Given the description of an element on the screen output the (x, y) to click on. 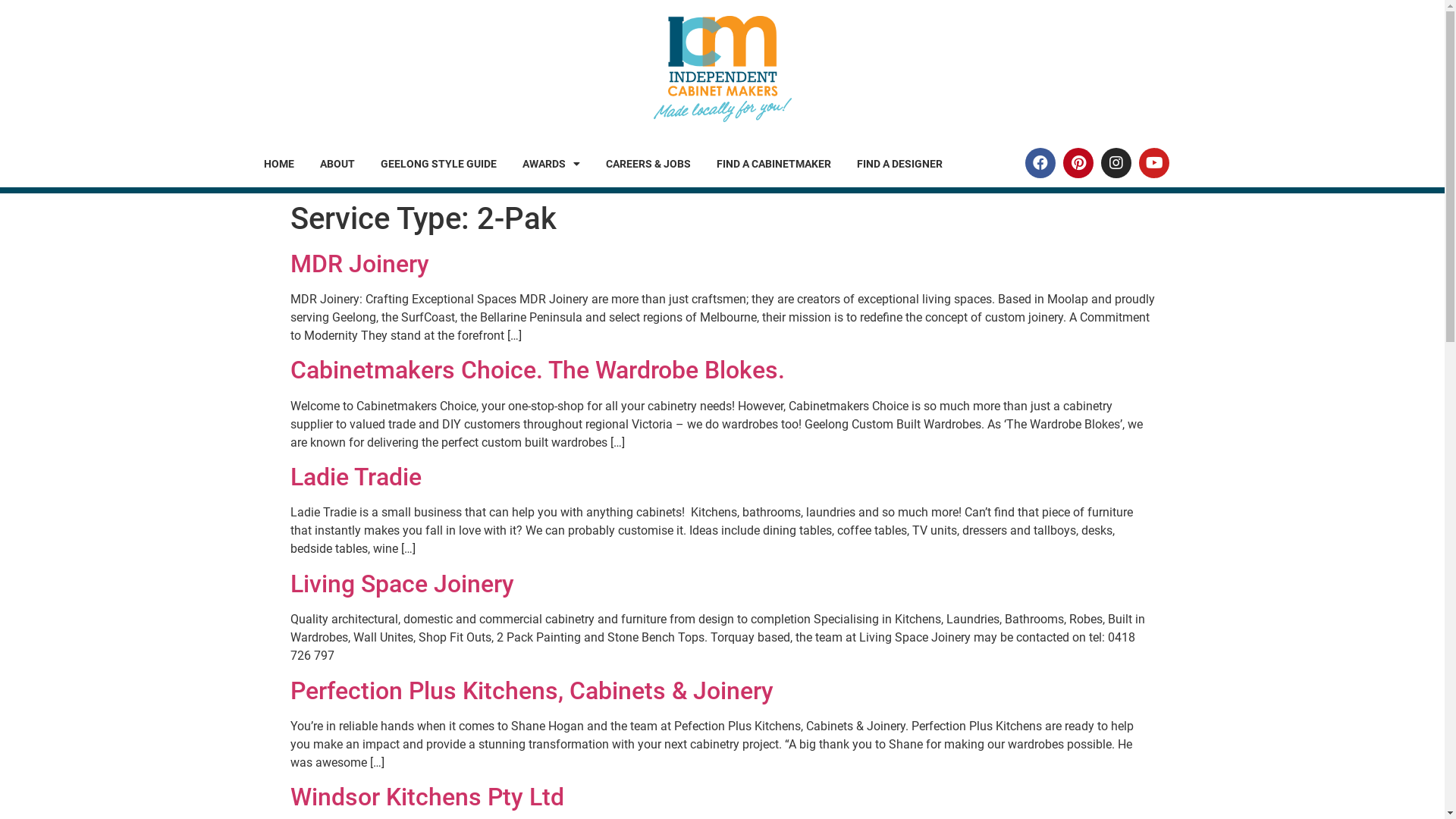
MDR Joinery Element type: text (358, 263)
ABOUT Element type: text (337, 163)
Ladie Tradie Element type: text (354, 476)
Perfection Plus Kitchens, Cabinets & Joinery Element type: text (530, 690)
Living Space Joinery Element type: text (401, 583)
Cabinetmakers Choice. The Wardrobe Blokes. Element type: text (536, 369)
FIND A DESIGNER Element type: text (899, 163)
AWARDS Element type: text (551, 163)
GEELONG STYLE GUIDE Element type: text (438, 163)
HOME Element type: text (279, 163)
CAREERS & JOBS Element type: text (648, 163)
Windsor Kitchens Pty Ltd Element type: text (426, 796)
FIND A CABINETMAKER Element type: text (773, 163)
